Given the description of an element on the screen output the (x, y) to click on. 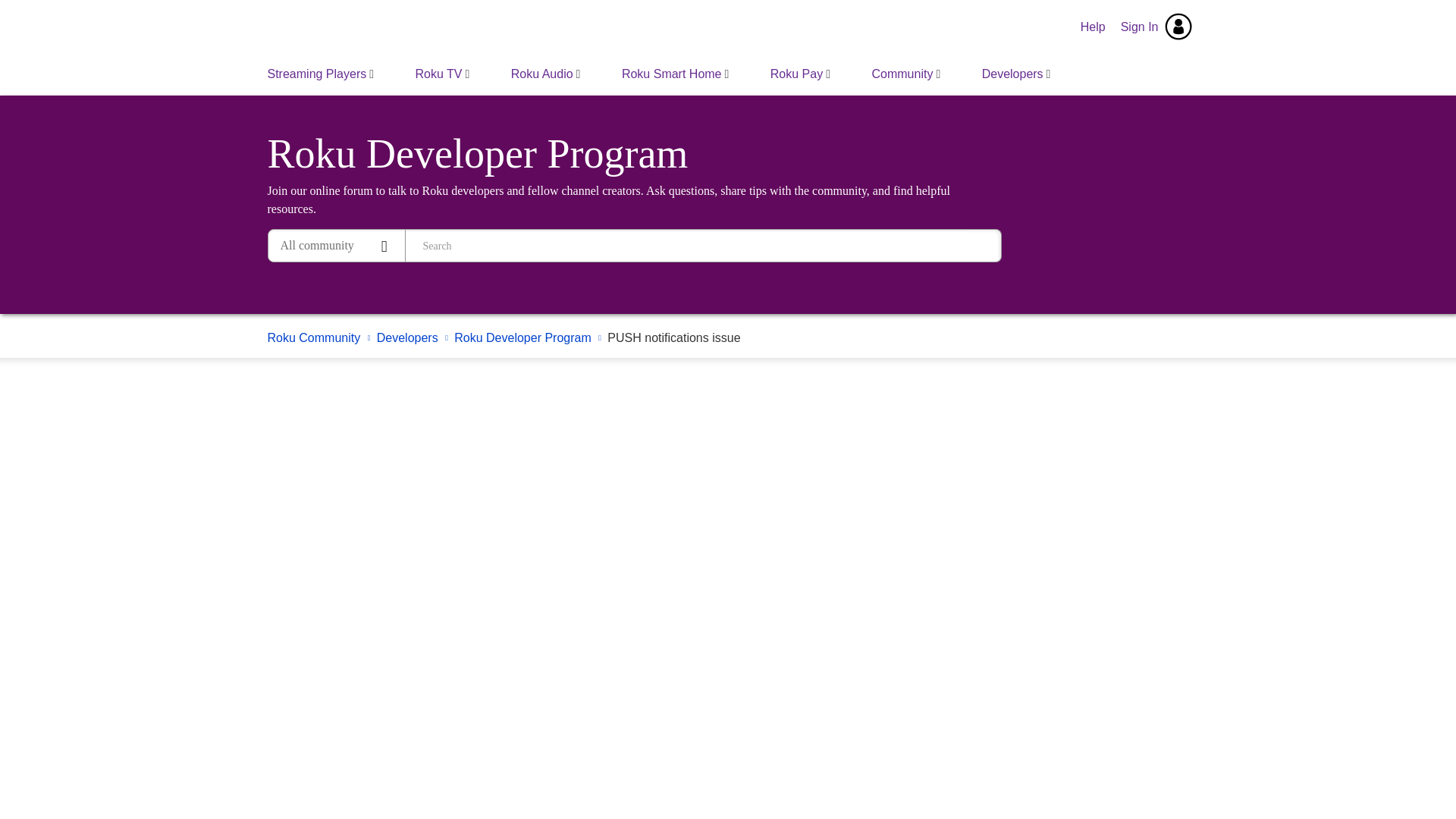
Roku TV (442, 73)
Roku Smart Home (675, 73)
Search (983, 245)
Search (983, 245)
Search (983, 245)
Roku Audio (545, 73)
Search Granularity (335, 245)
Roku Pay (799, 73)
Sign In (1156, 26)
Streaming Players (320, 73)
